Given the description of an element on the screen output the (x, y) to click on. 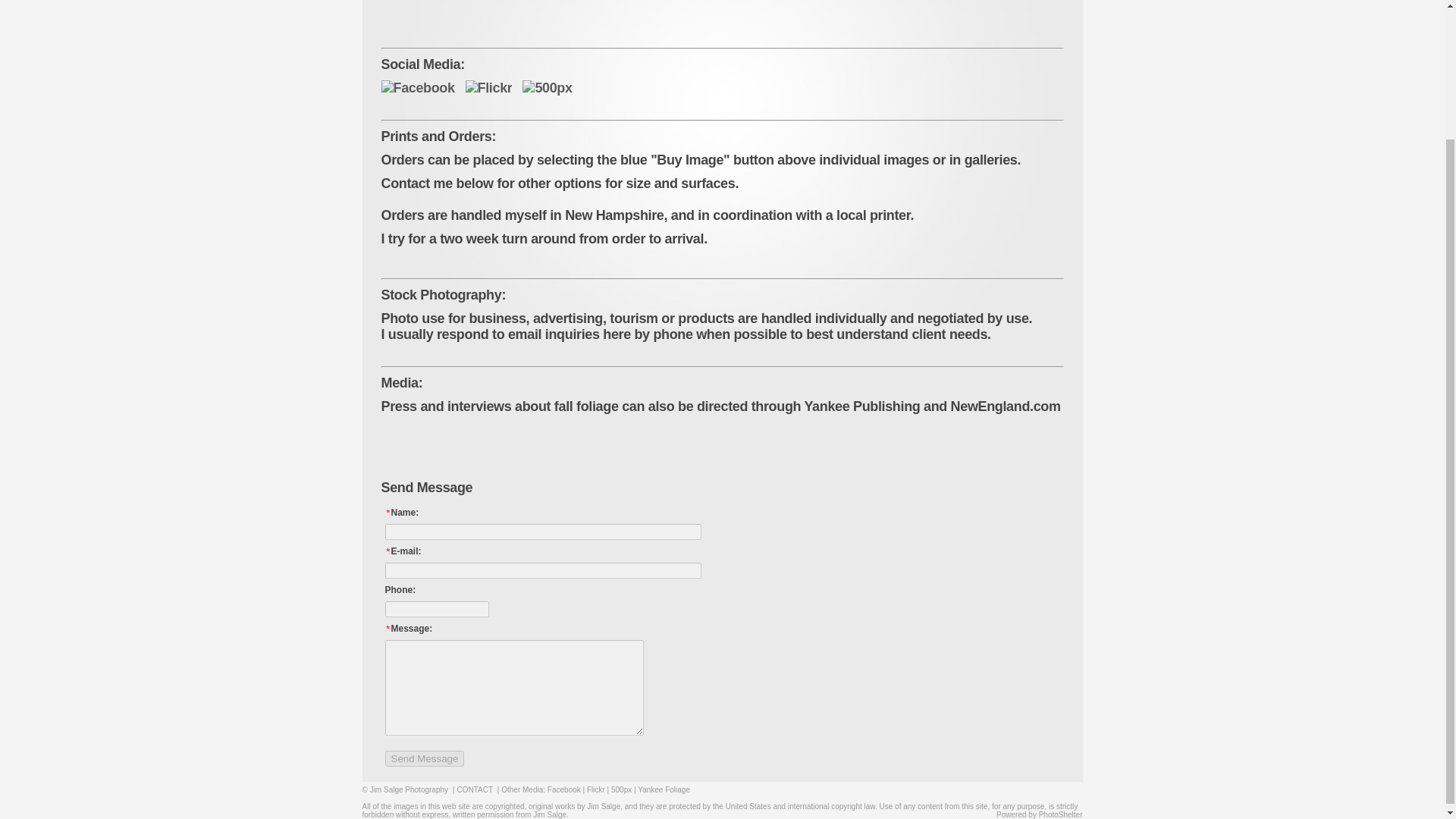
500px (621, 789)
Facebook (417, 88)
Flickr (488, 88)
Jim Salge Photography 500px (547, 87)
Send Message (424, 758)
Jim Salge Photography Facebook (417, 87)
500px (547, 88)
CONTACT (474, 789)
Facebook (563, 789)
Flickr (595, 789)
Yankee Foliage (663, 789)
Send Message (424, 758)
Jim Salge Photography Flickr (488, 87)
